Given the description of an element on the screen output the (x, y) to click on. 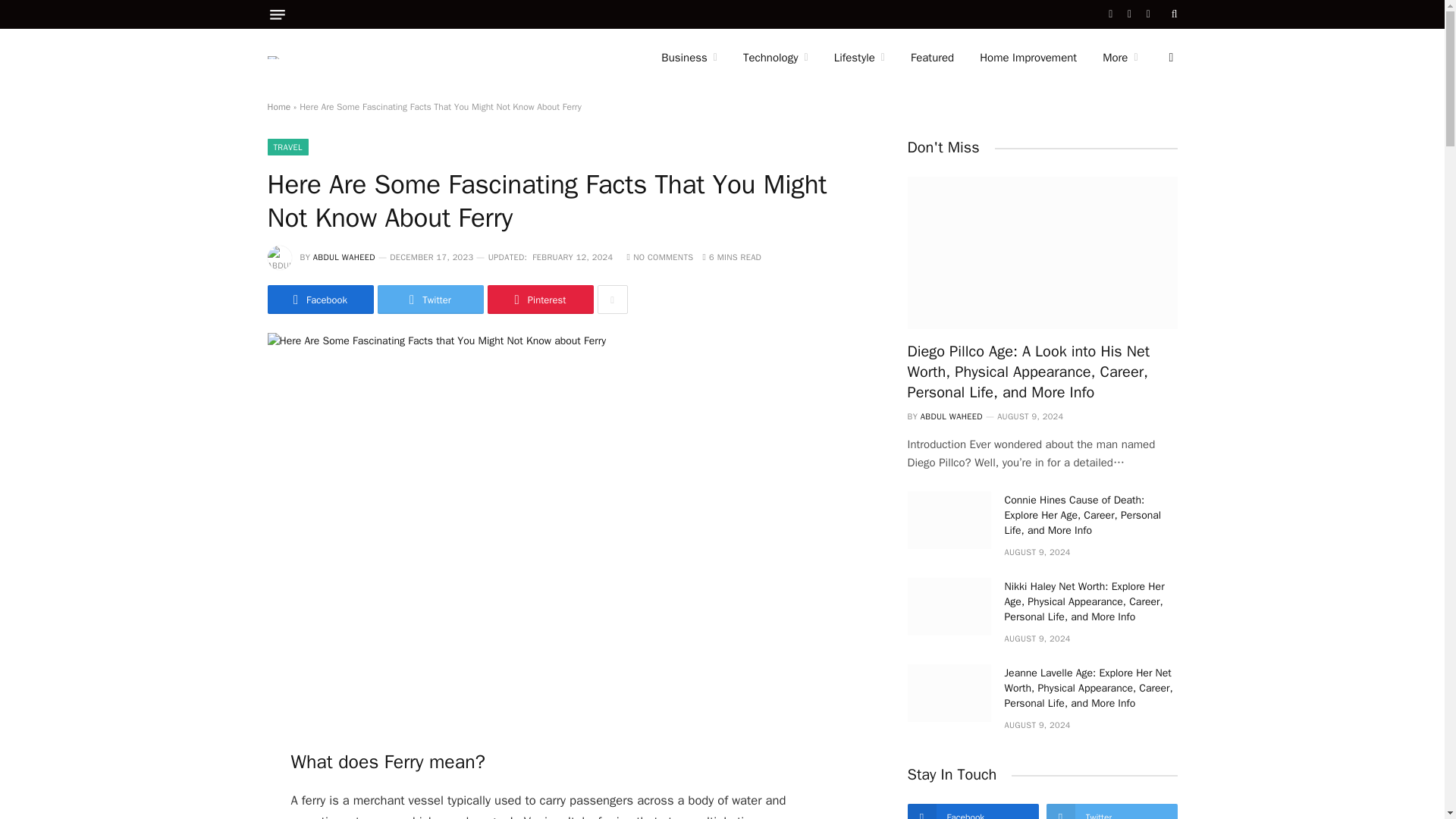
Business (688, 57)
Technology (775, 57)
More (1119, 57)
Home Improvement (1027, 57)
Posts by Abdul Waheed (344, 256)
Featured (932, 57)
Show More Social Sharing (611, 299)
Switch to Dark Design - easier on eyes. (1169, 57)
Share on Pinterest (539, 299)
Share on Facebook (319, 299)
